Given the description of an element on the screen output the (x, y) to click on. 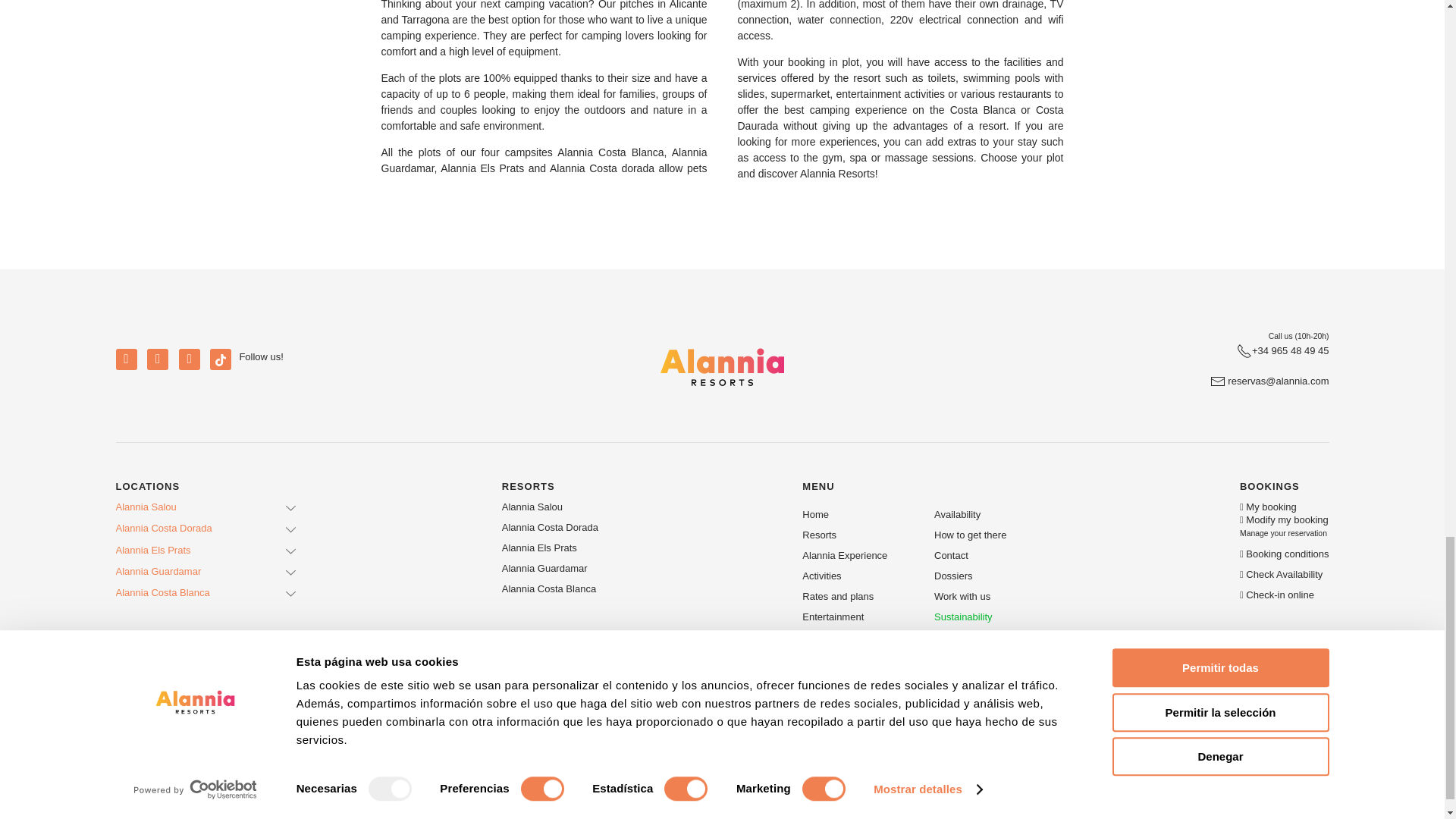
Alannia Resorts (721, 366)
Alannia Resorts (1269, 380)
Alannia Resorts (1282, 350)
